Given the description of an element on the screen output the (x, y) to click on. 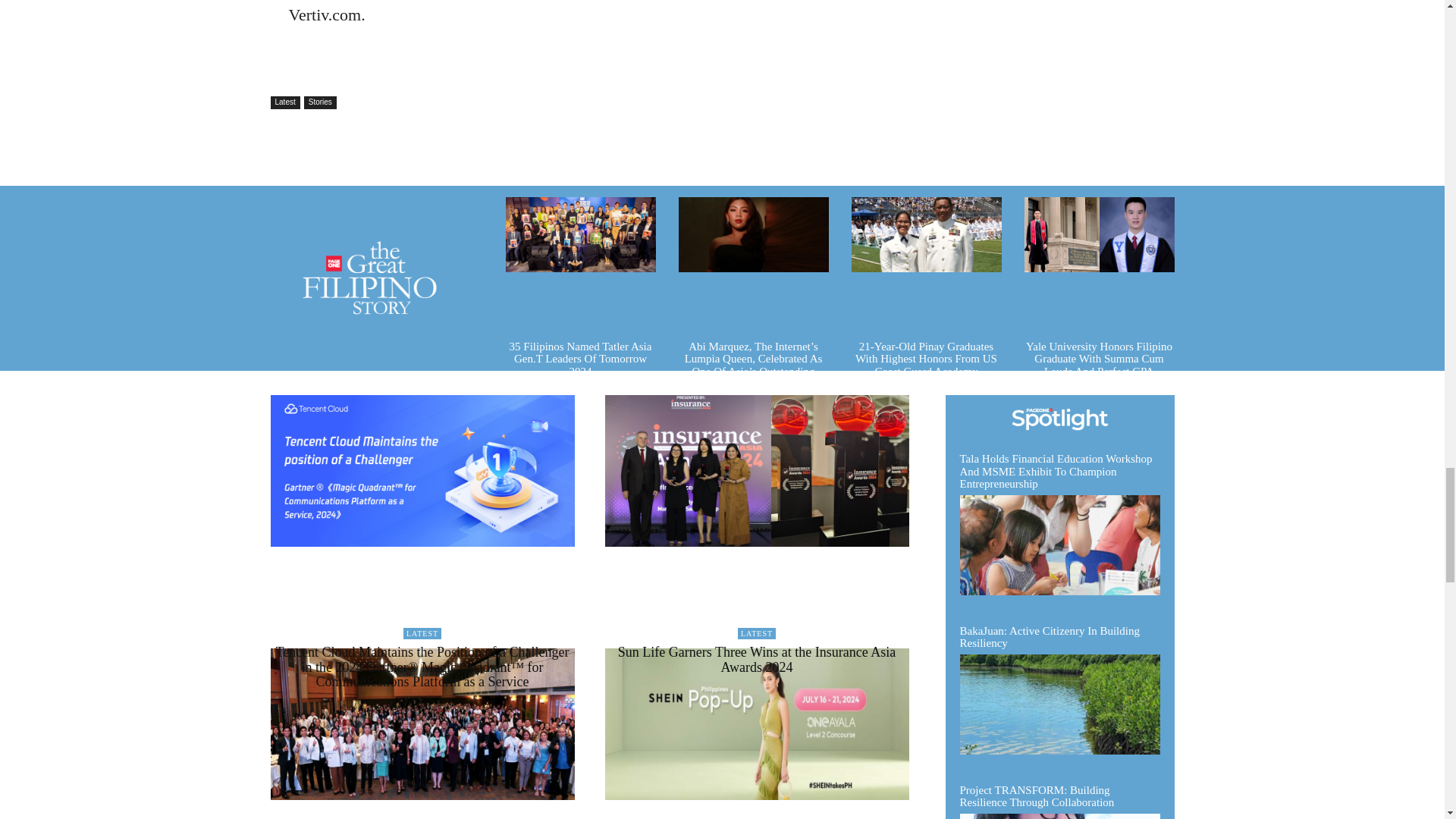
Stories (320, 102)
Latest (284, 102)
